Given the description of an element on the screen output the (x, y) to click on. 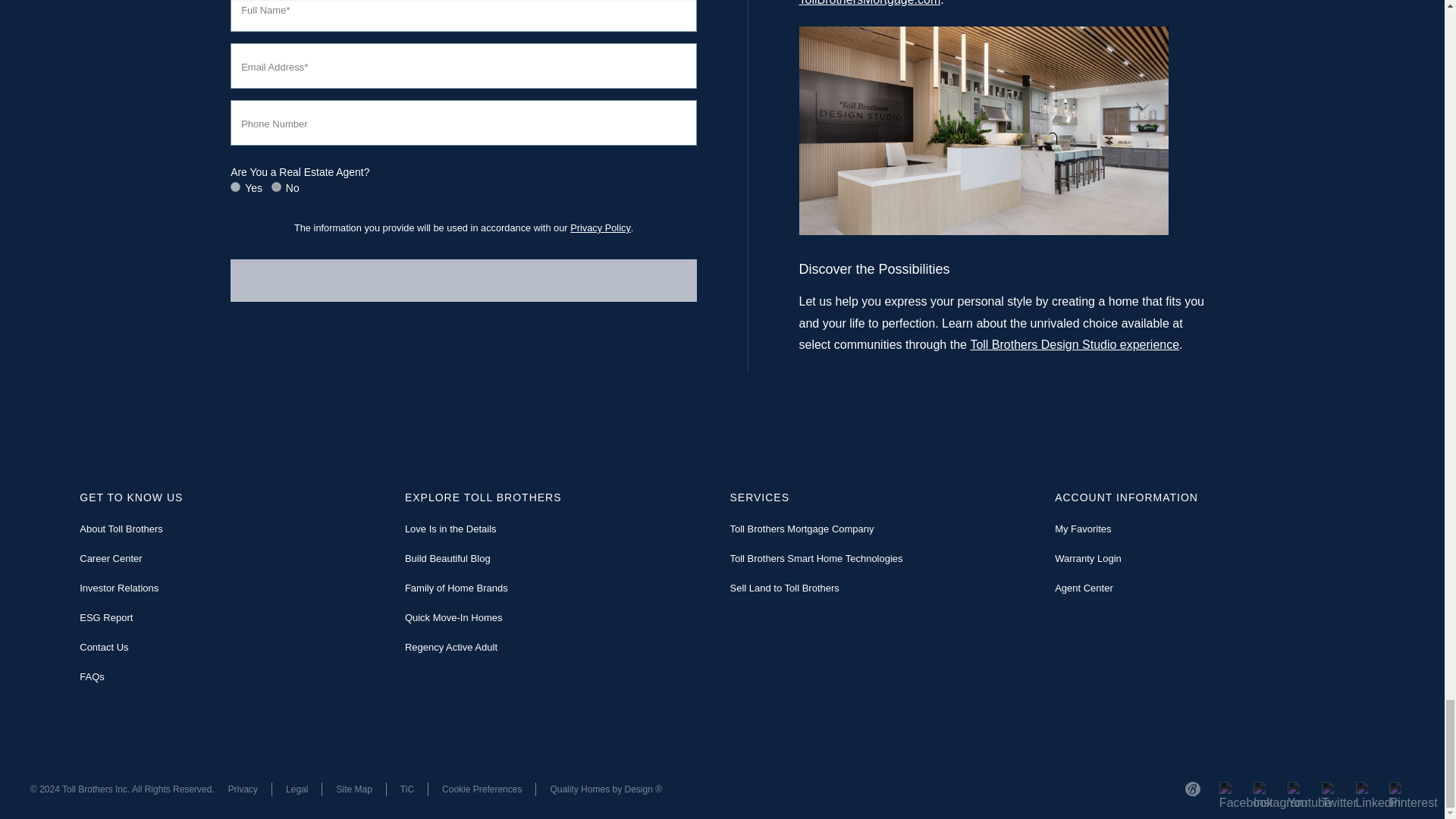
Toll Career Center (110, 558)
Toll Brothers Mortgage Company (869, 2)
Toll Brothers Design Studio (1074, 344)
no (275, 186)
Enter Your First and Last Names (463, 15)
Please enter a valid phone number (463, 122)
Investor Relations (119, 587)
yes (235, 186)
